Given the description of an element on the screen output the (x, y) to click on. 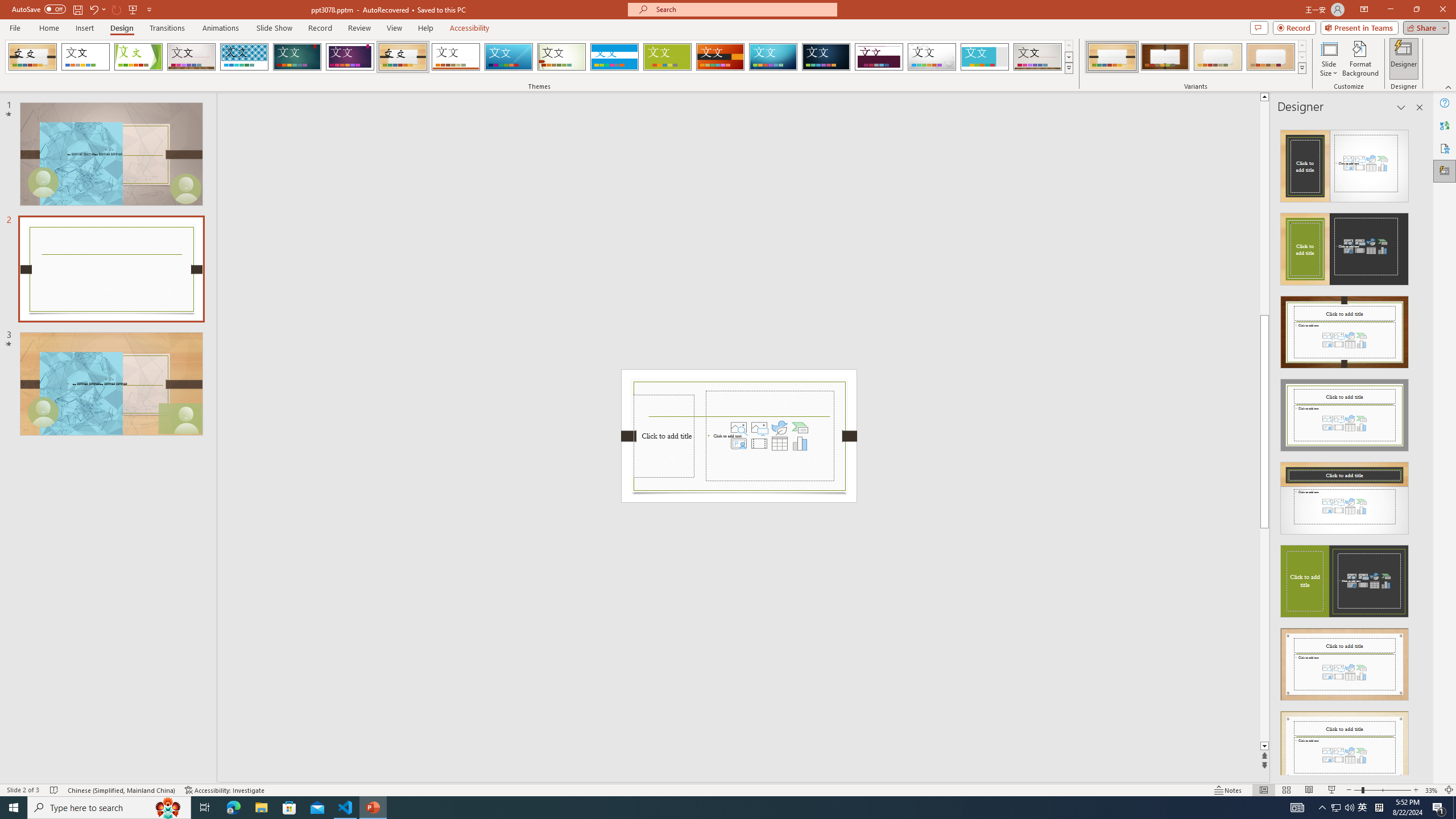
Page up (1264, 207)
Organic Variant 4 (1270, 56)
Dividend (879, 56)
Slide Size (1328, 58)
Page down (1264, 634)
Gallery (1037, 56)
AutomationID: SlideThemesGallery (539, 56)
Organic Variant 1 (1112, 56)
